Given the description of an element on the screen output the (x, y) to click on. 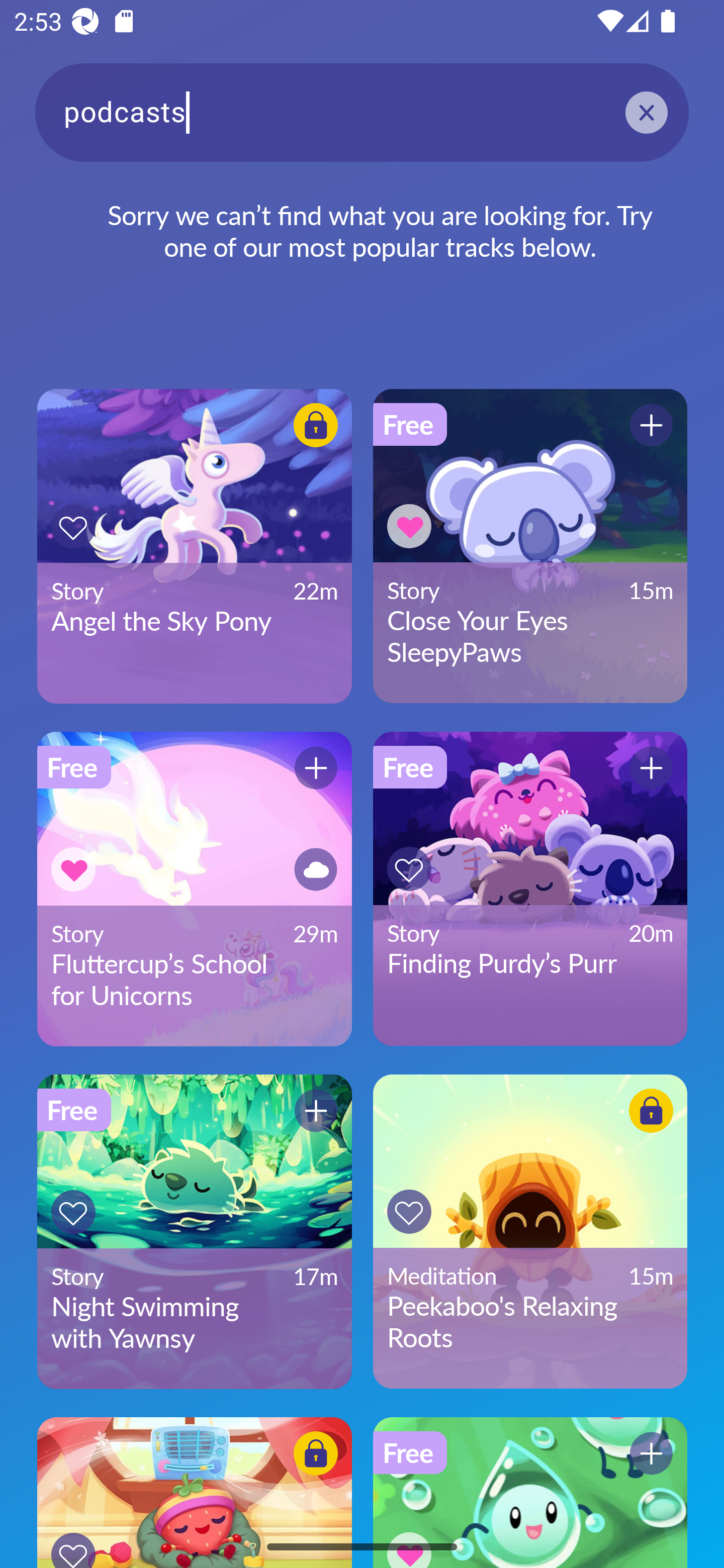
podcasts (361, 111)
Button (315, 424)
Button (650, 424)
Button (409, 525)
Button (73, 526)
Button (315, 767)
Button (650, 767)
Button (409, 868)
Button (73, 869)
Button (315, 869)
Button (315, 1109)
Button (650, 1109)
Button (409, 1211)
Button (73, 1211)
Button (315, 1453)
Button (650, 1453)
Featured Content Button Button (193, 1492)
Featured Content Free Button Button (529, 1492)
Button (409, 1539)
Button (73, 1540)
